Given the description of an element on the screen output the (x, y) to click on. 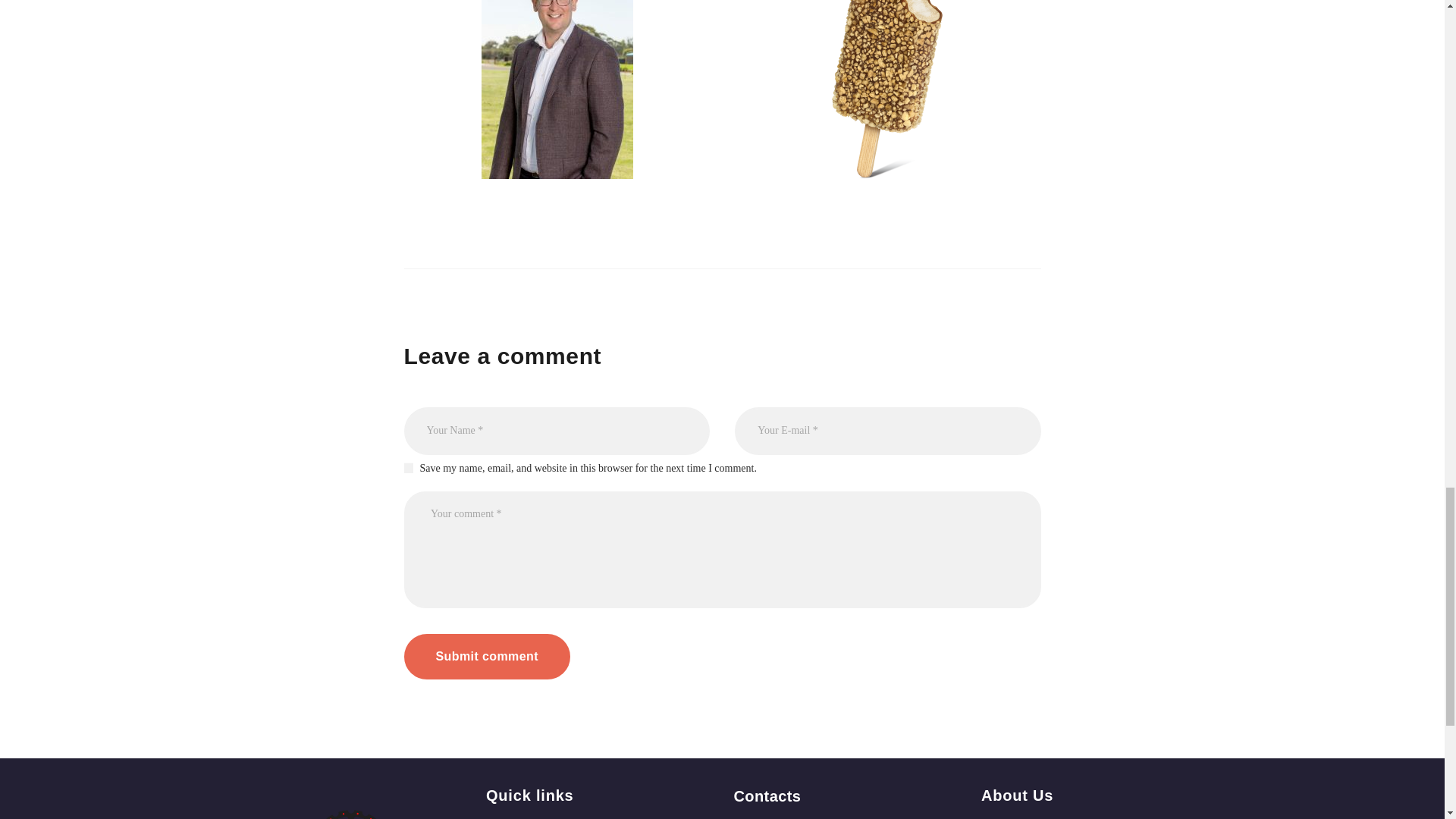
Submit comment (486, 656)
